Given the description of an element on the screen output the (x, y) to click on. 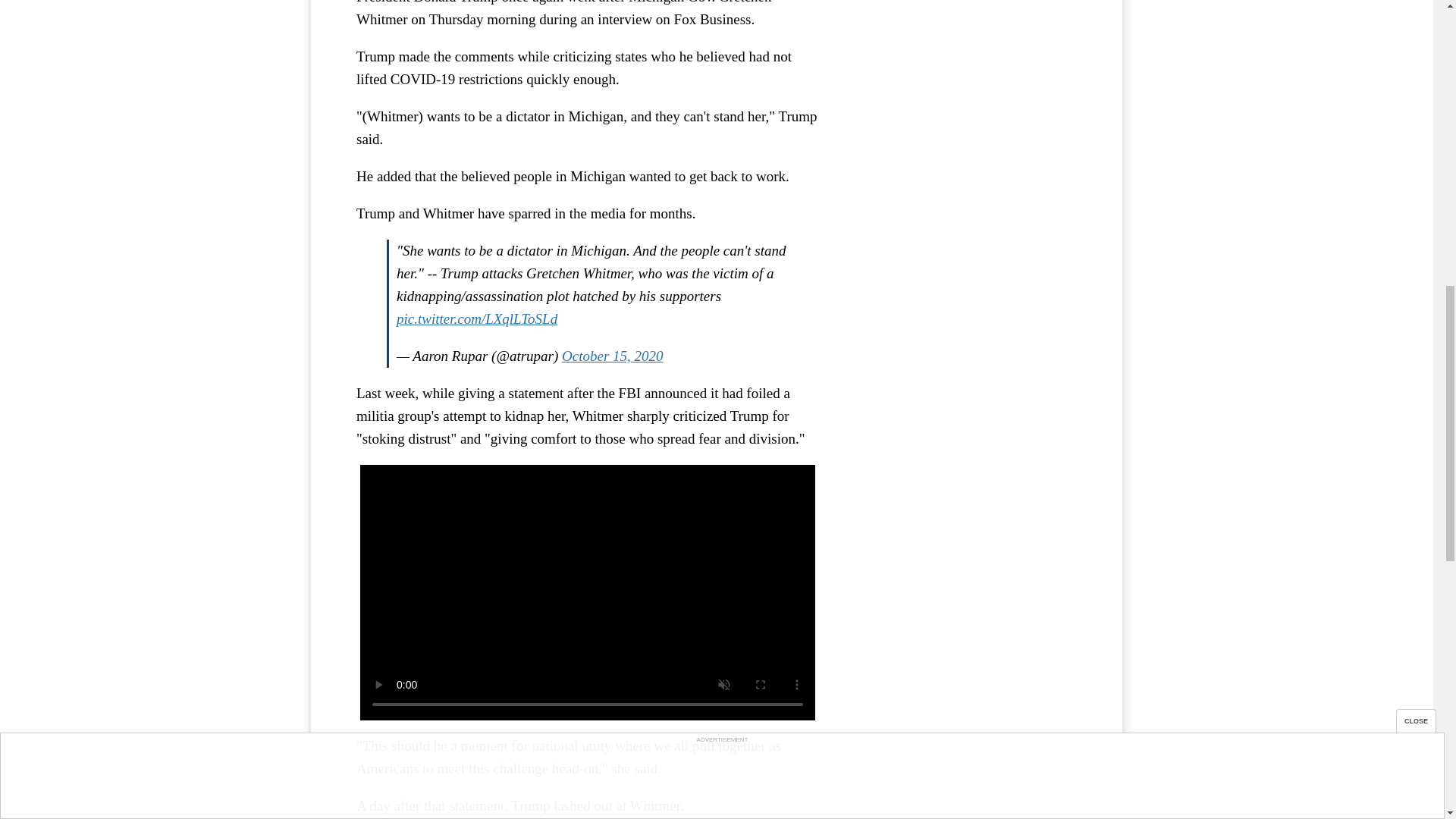
3rd party ad content (962, 76)
